Given the description of an element on the screen output the (x, y) to click on. 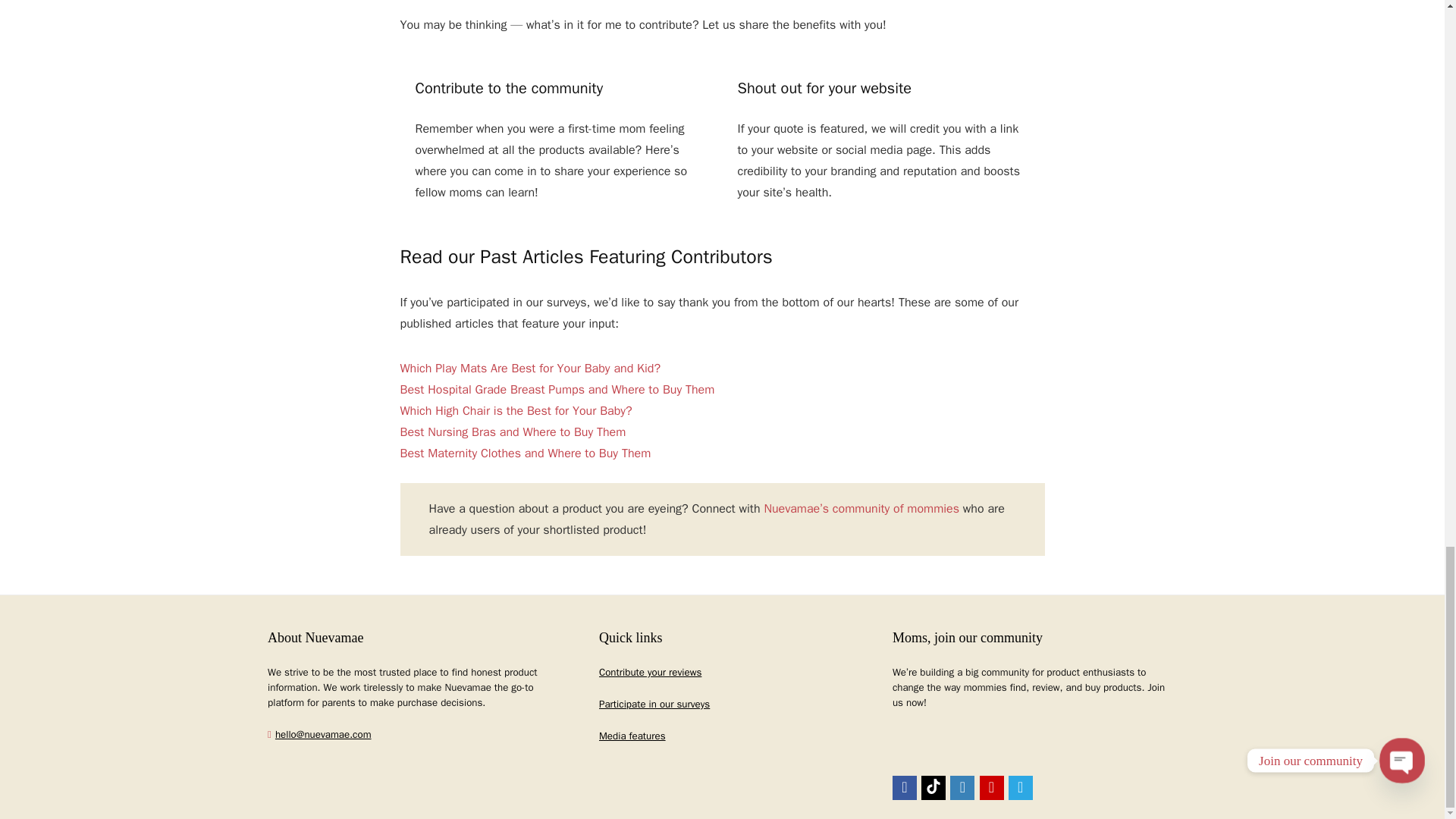
Best Nursing Bras and Where to Buy Them (513, 432)
Best Maternity Clothes and Where to Buy Them (525, 453)
Which Play Mats Are Best for Your Baby and Kid? (530, 368)
Best Hospital Grade Breast Pumps and Where to Buy Them (557, 389)
Which High Chair is the Best for Your Baby? (515, 410)
